Given the description of an element on the screen output the (x, y) to click on. 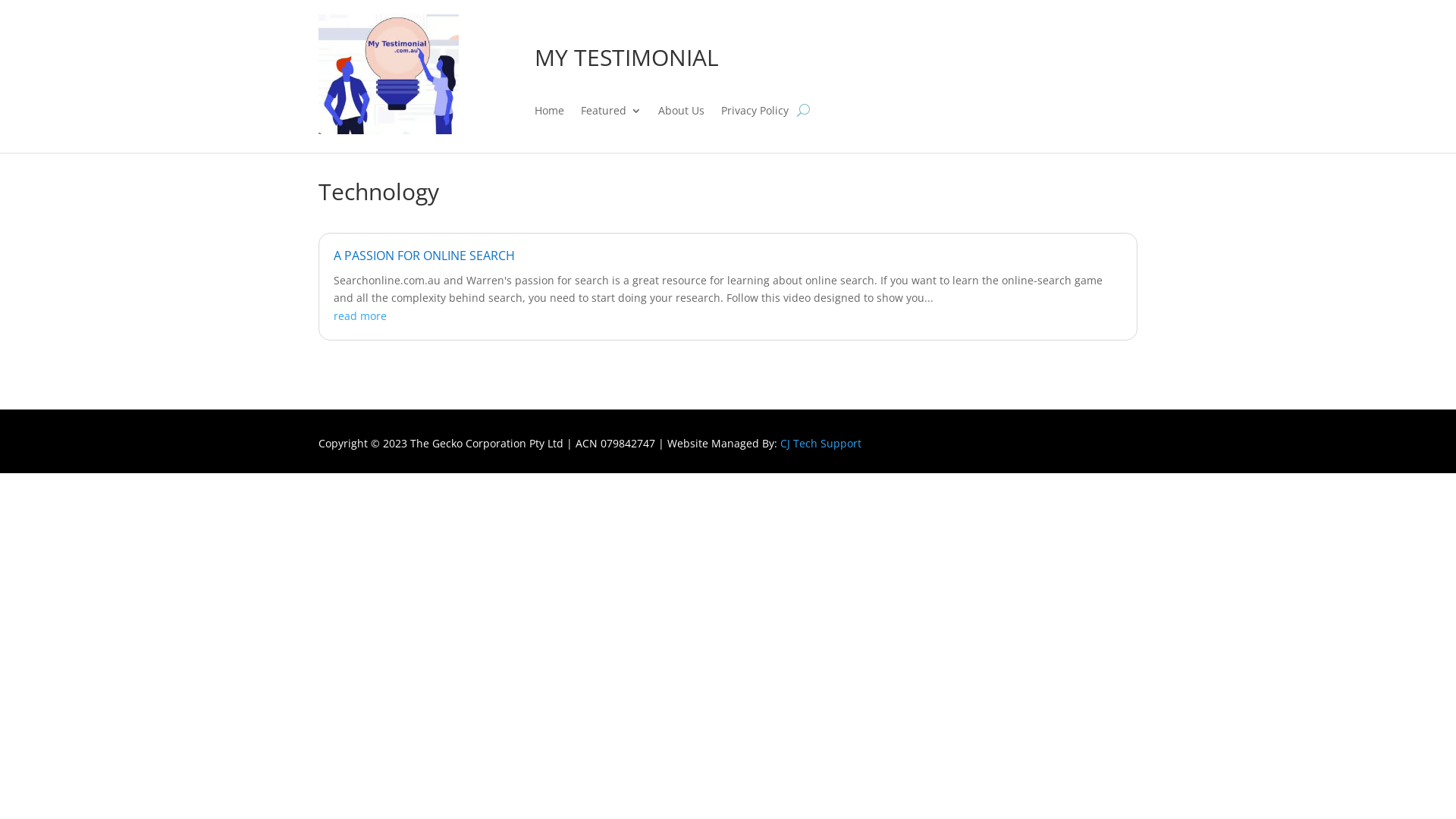
cropped-Facebook-Logo.jpg Element type: hover (388, 74)
A PASSION FOR ONLINE SEARCH Element type: text (423, 255)
read more Element type: text (359, 315)
About Us Element type: text (681, 113)
CJ Tech Support Element type: text (820, 443)
Privacy Policy Element type: text (754, 113)
Featured Element type: text (610, 113)
Home Element type: text (549, 113)
